Given the description of an element on the screen output the (x, y) to click on. 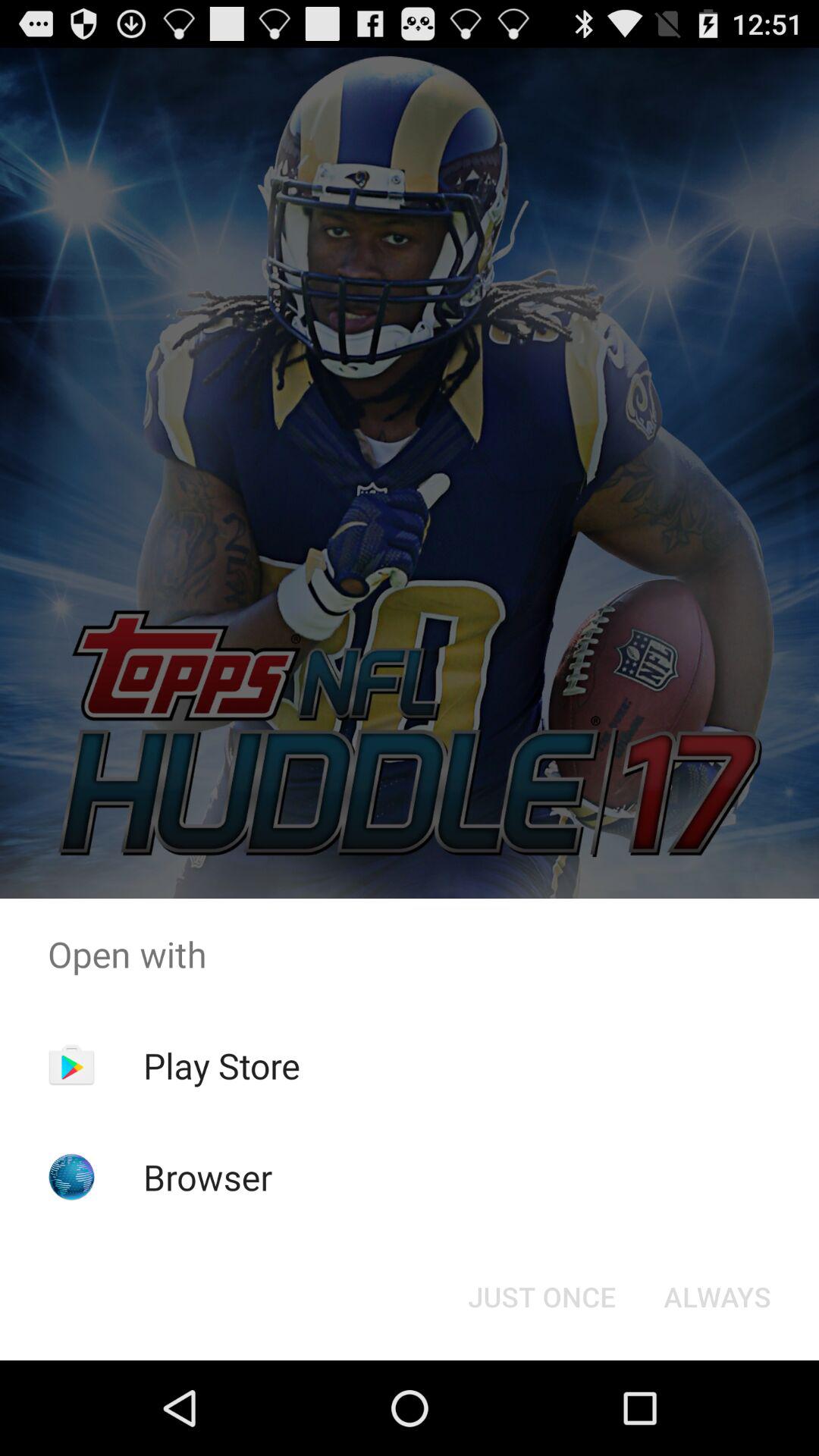
turn on item next to always button (541, 1296)
